Given the description of an element on the screen output the (x, y) to click on. 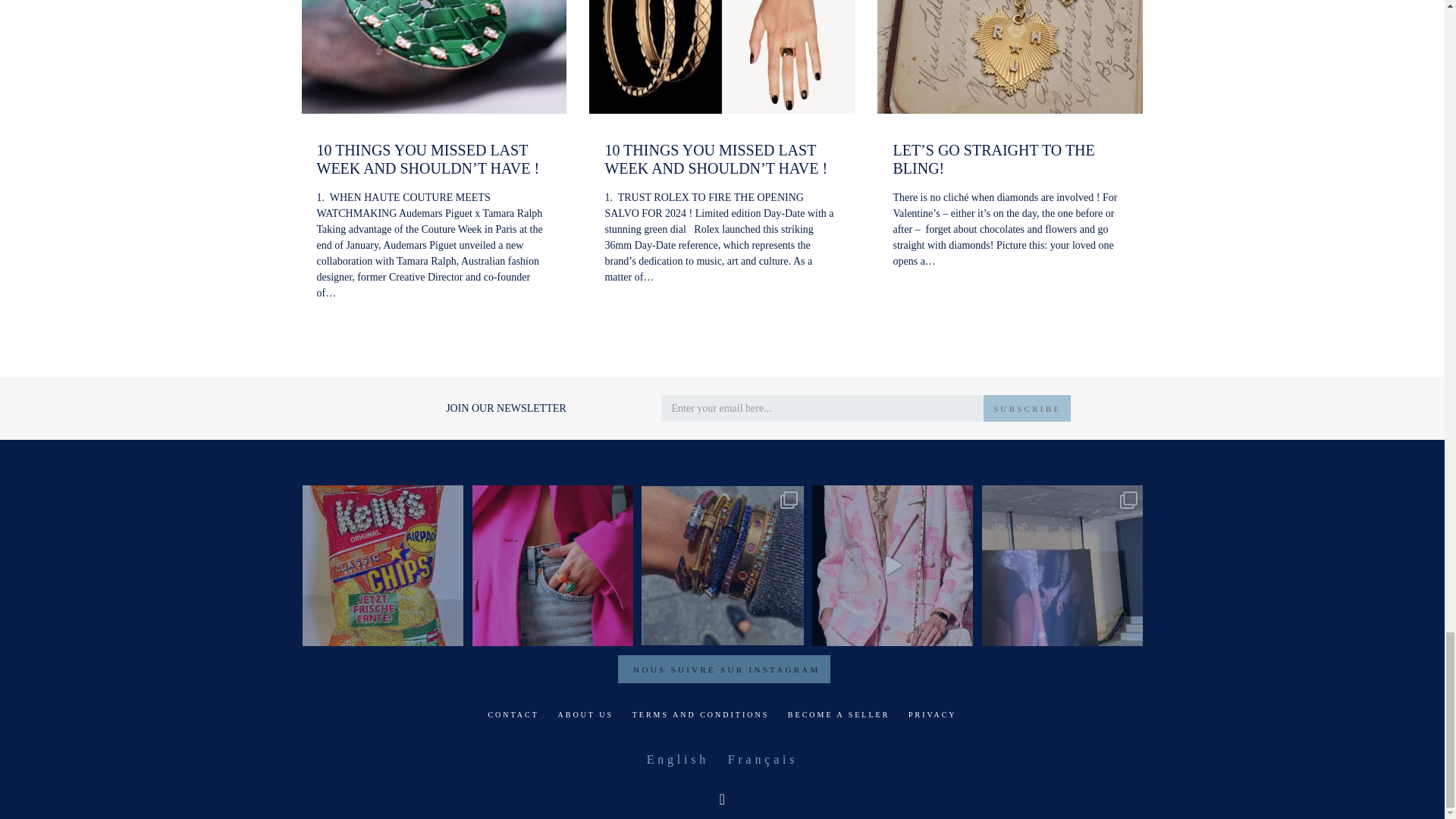
Bots only (727, 404)
